Given the description of an element on the screen output the (x, y) to click on. 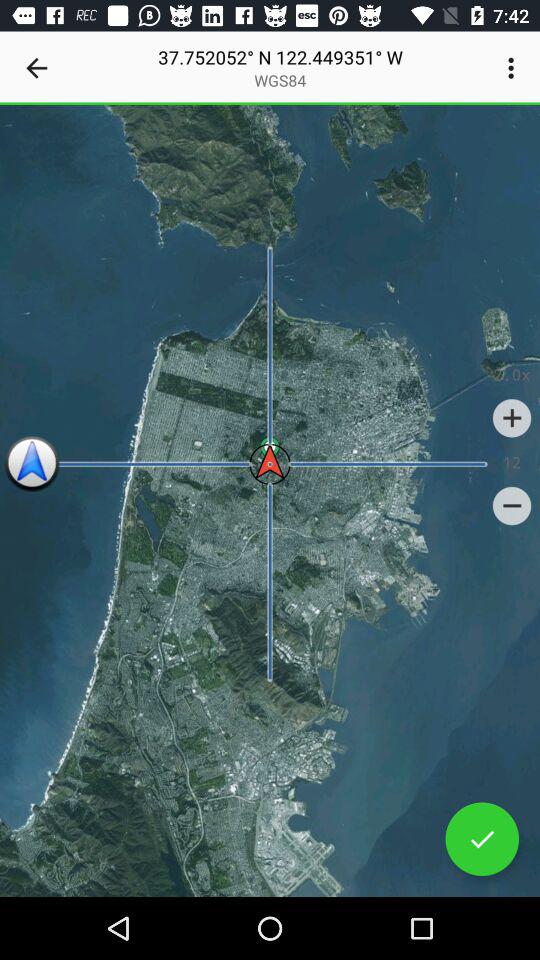
turn off the icon next to 37 752052 n item (513, 67)
